Given the description of an element on the screen output the (x, y) to click on. 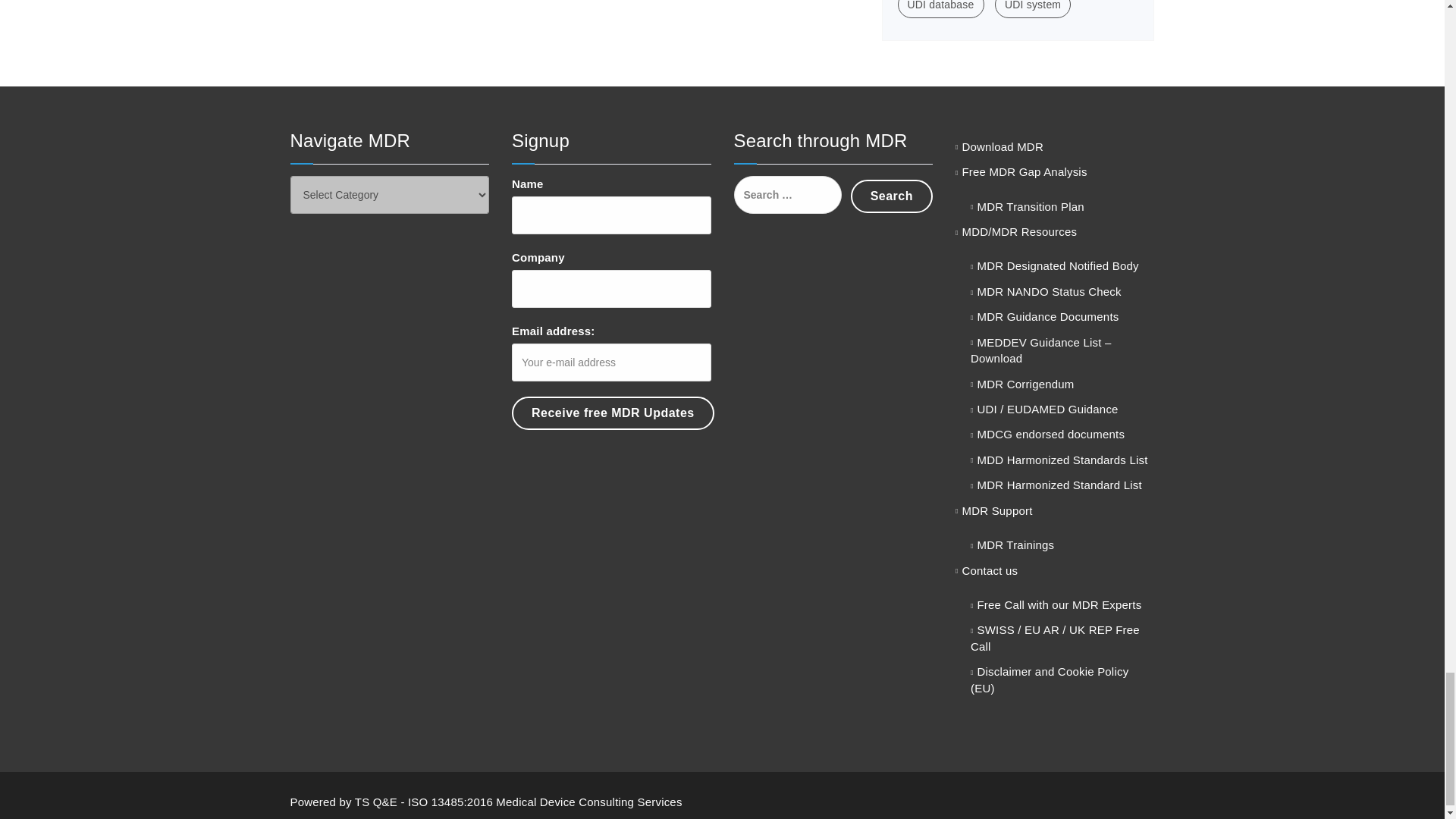
Search (891, 195)
